Given the description of an element on the screen output the (x, y) to click on. 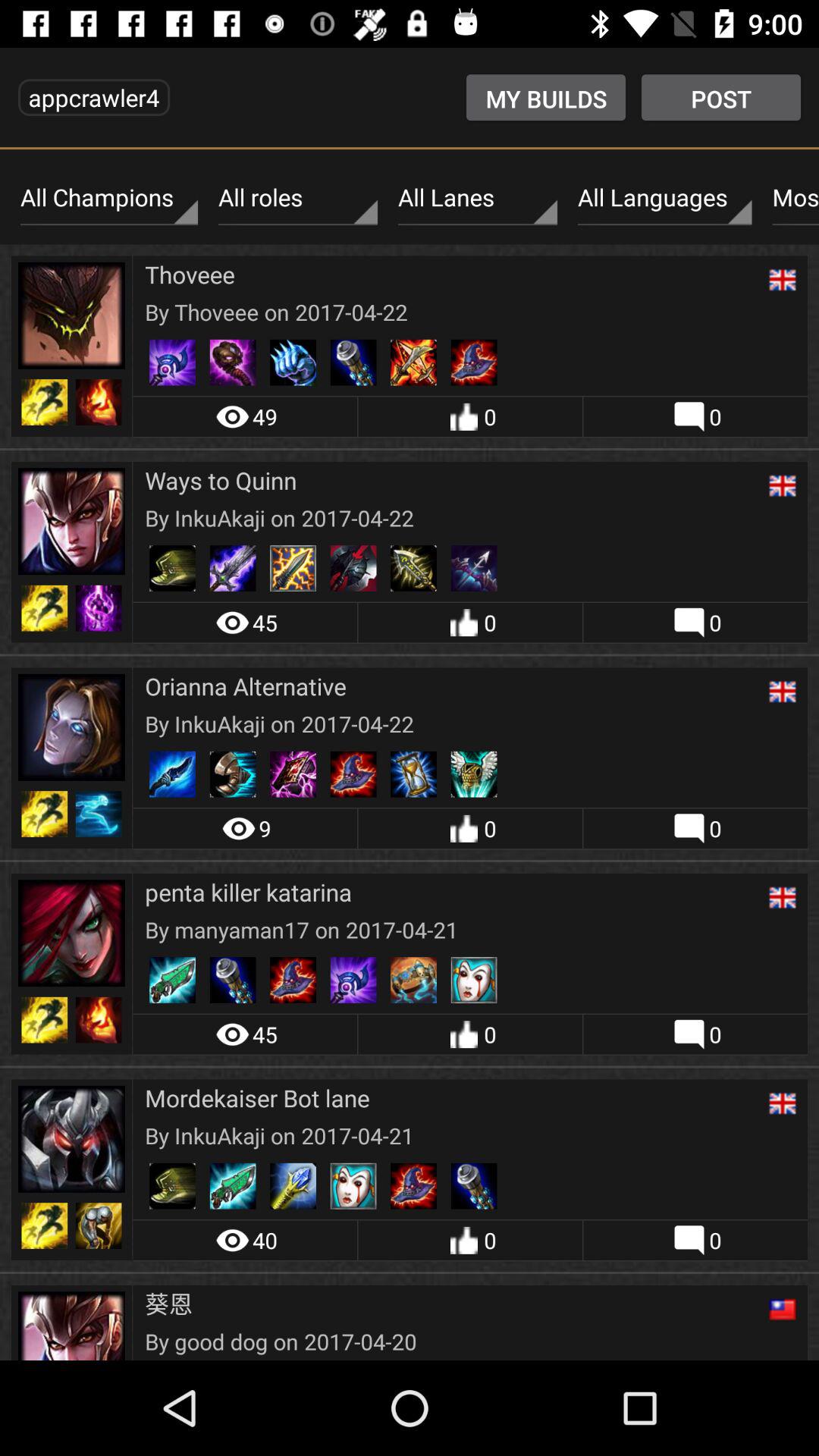
open the my builds item (545, 97)
